Given the description of an element on the screen output the (x, y) to click on. 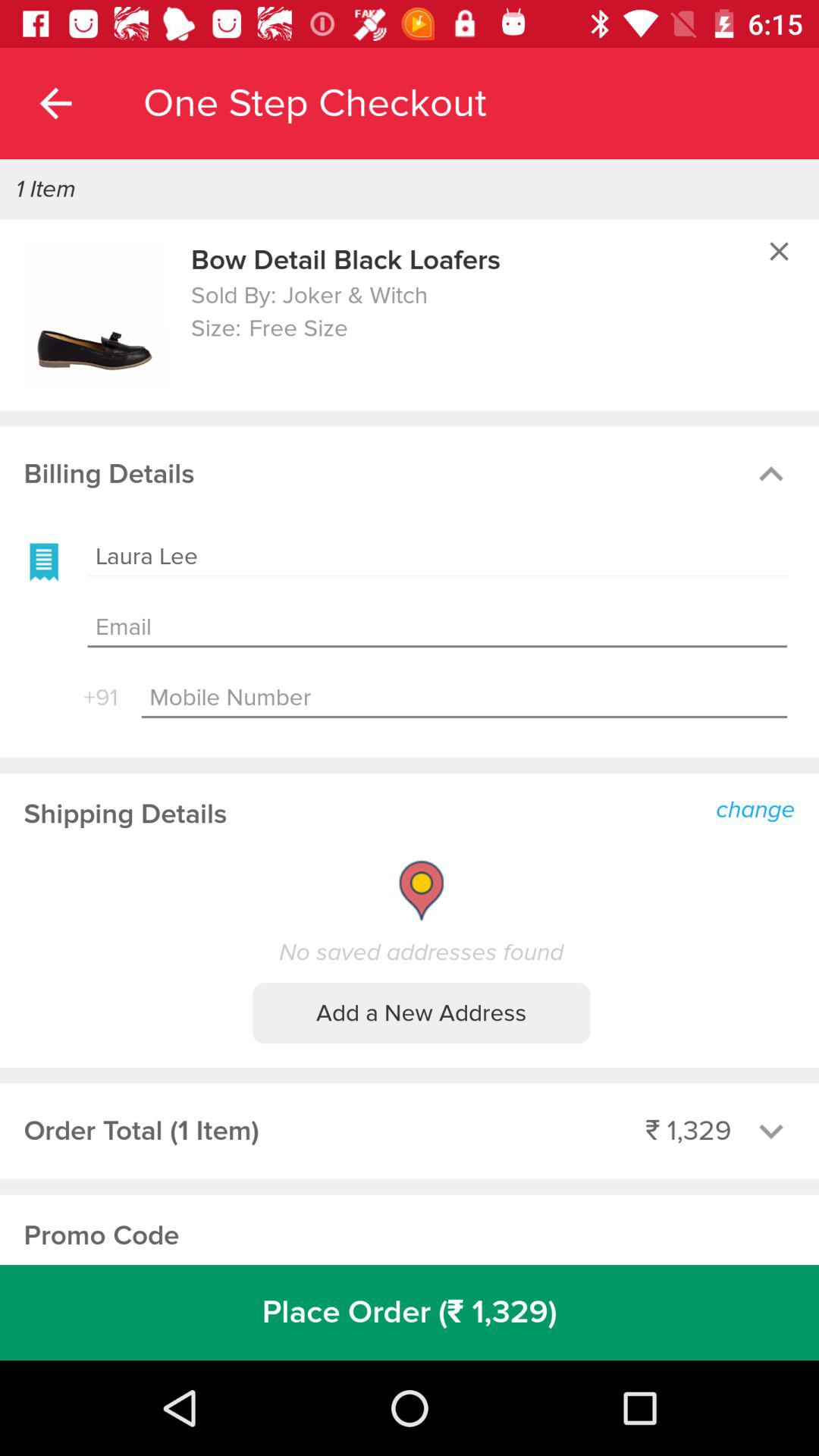
turn on item next to the one step checkout icon (55, 103)
